Given the description of an element on the screen output the (x, y) to click on. 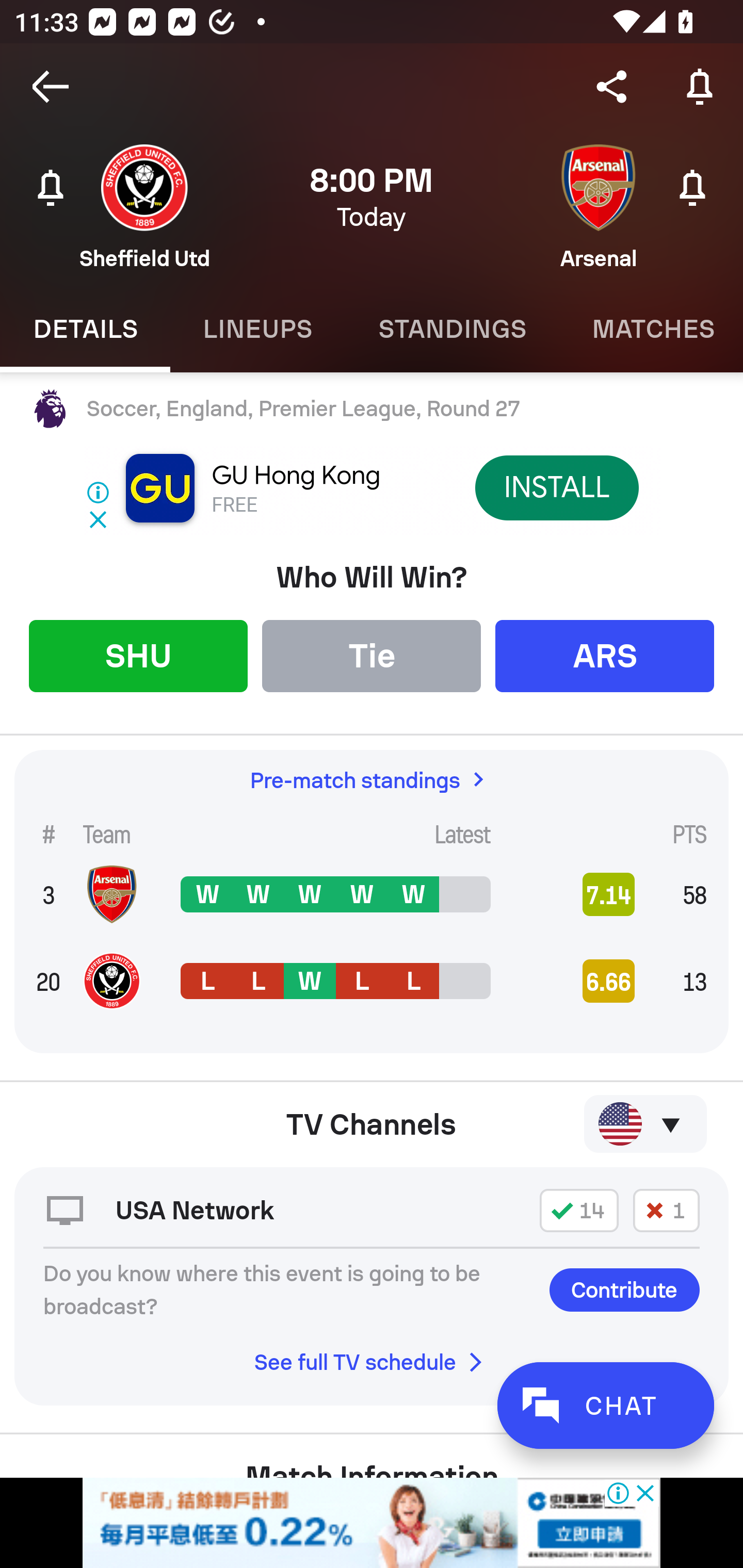
Navigate up (50, 86)
Lineups LINEUPS (257, 329)
Standings STANDINGS (451, 329)
Matches MATCHES (650, 329)
Soccer, England, Premier League, Round 27 (371, 409)
INSTALL (556, 487)
GU Hong Kong (296, 475)
FREE (234, 505)
SHU (137, 655)
Tie (371, 655)
ARS (604, 655)
14 (578, 1210)
1 (666, 1210)
Contribute (624, 1289)
See full TV schedule (371, 1361)
CHAT (605, 1405)
Advertisement (371, 1522)
